Given the description of an element on the screen output the (x, y) to click on. 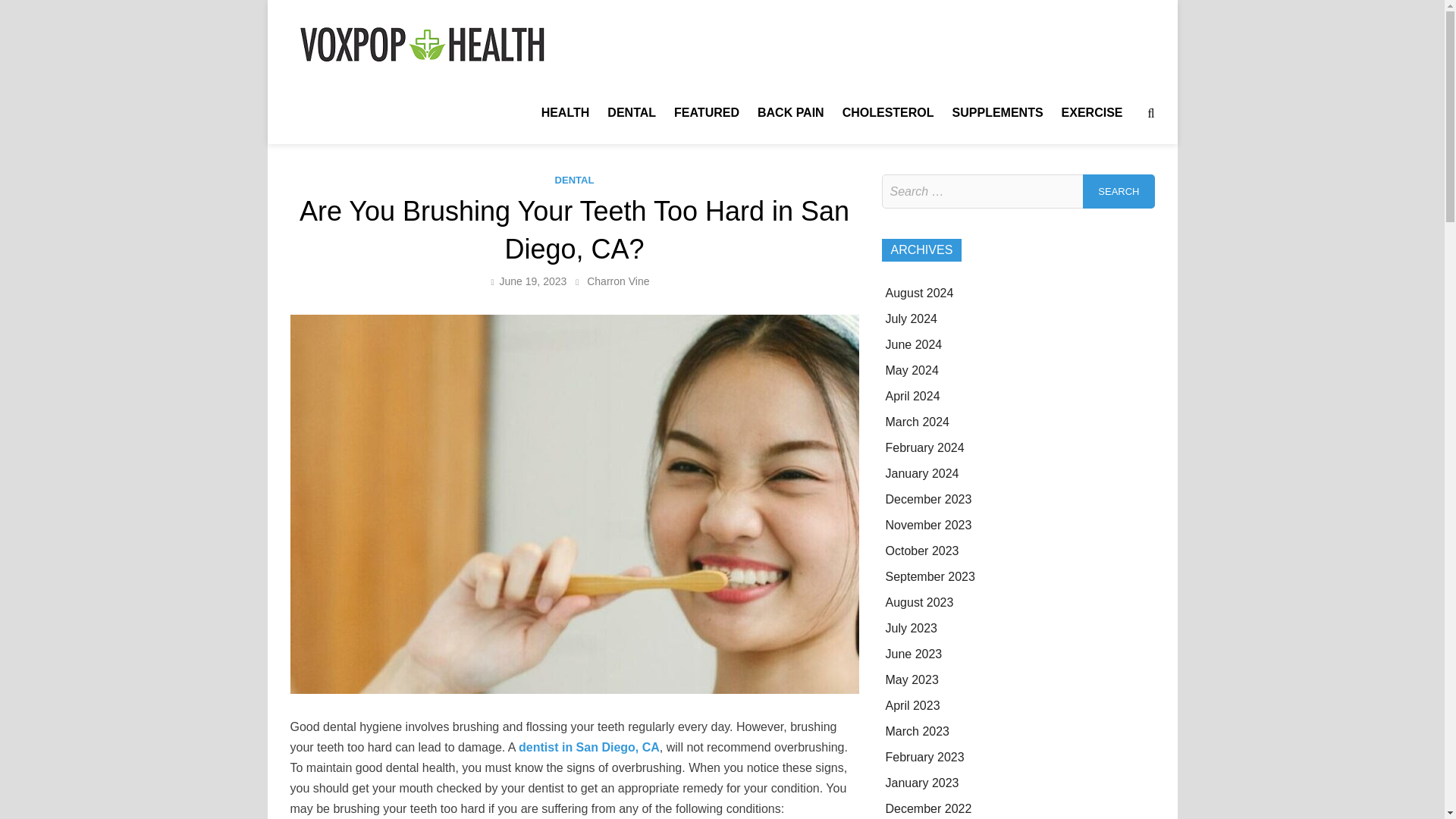
BACK PAIN (790, 112)
DENTAL (631, 112)
January 2023 (922, 782)
November 2023 (928, 524)
July 2024 (911, 318)
July 2023 (911, 627)
EXERCISE (1092, 112)
February 2024 (924, 447)
dentist in San Diego, CA (588, 747)
Voxpop Health (629, 52)
